Given the description of an element on the screen output the (x, y) to click on. 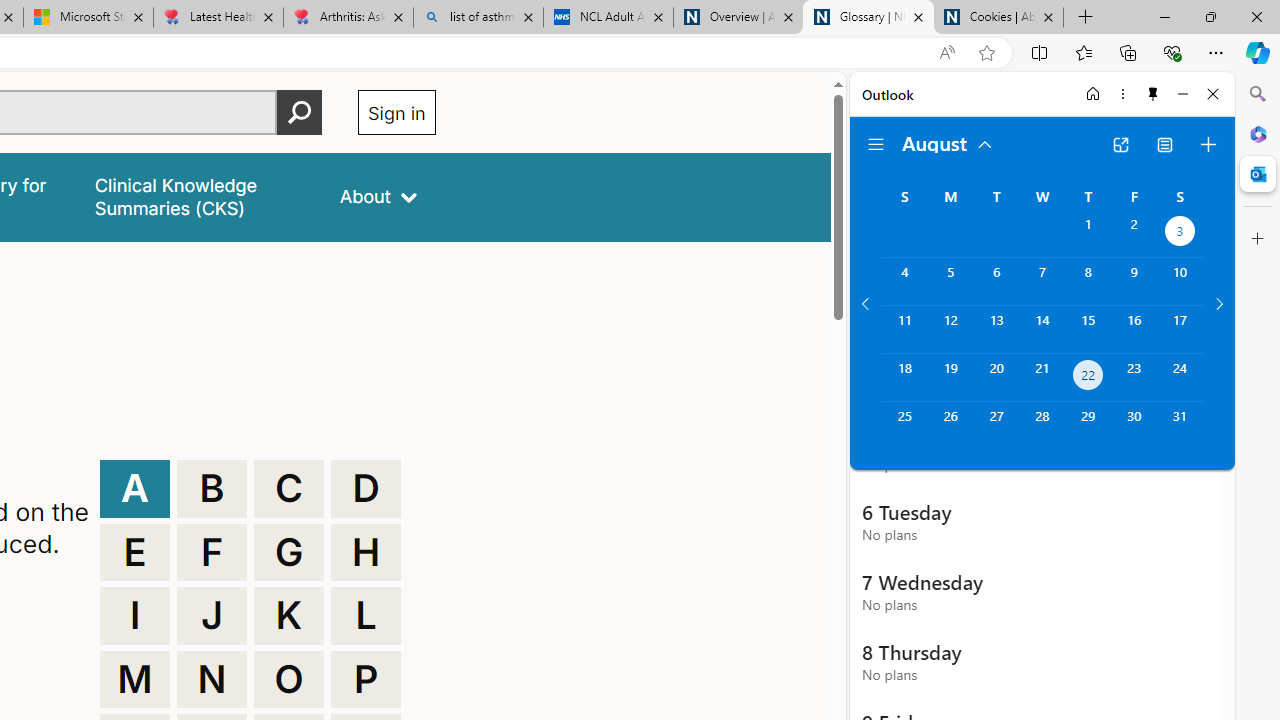
Open in new tab (1120, 144)
E (134, 551)
K (289, 615)
Wednesday, August 14, 2024.  (1042, 329)
N (212, 679)
O (289, 679)
Saturday, August 10, 2024.  (1180, 281)
I (134, 615)
Glossary | NICE (868, 17)
D (365, 488)
Tuesday, August 20, 2024.  (996, 377)
Folder navigation (876, 144)
I (134, 615)
